Given the description of an element on the screen output the (x, y) to click on. 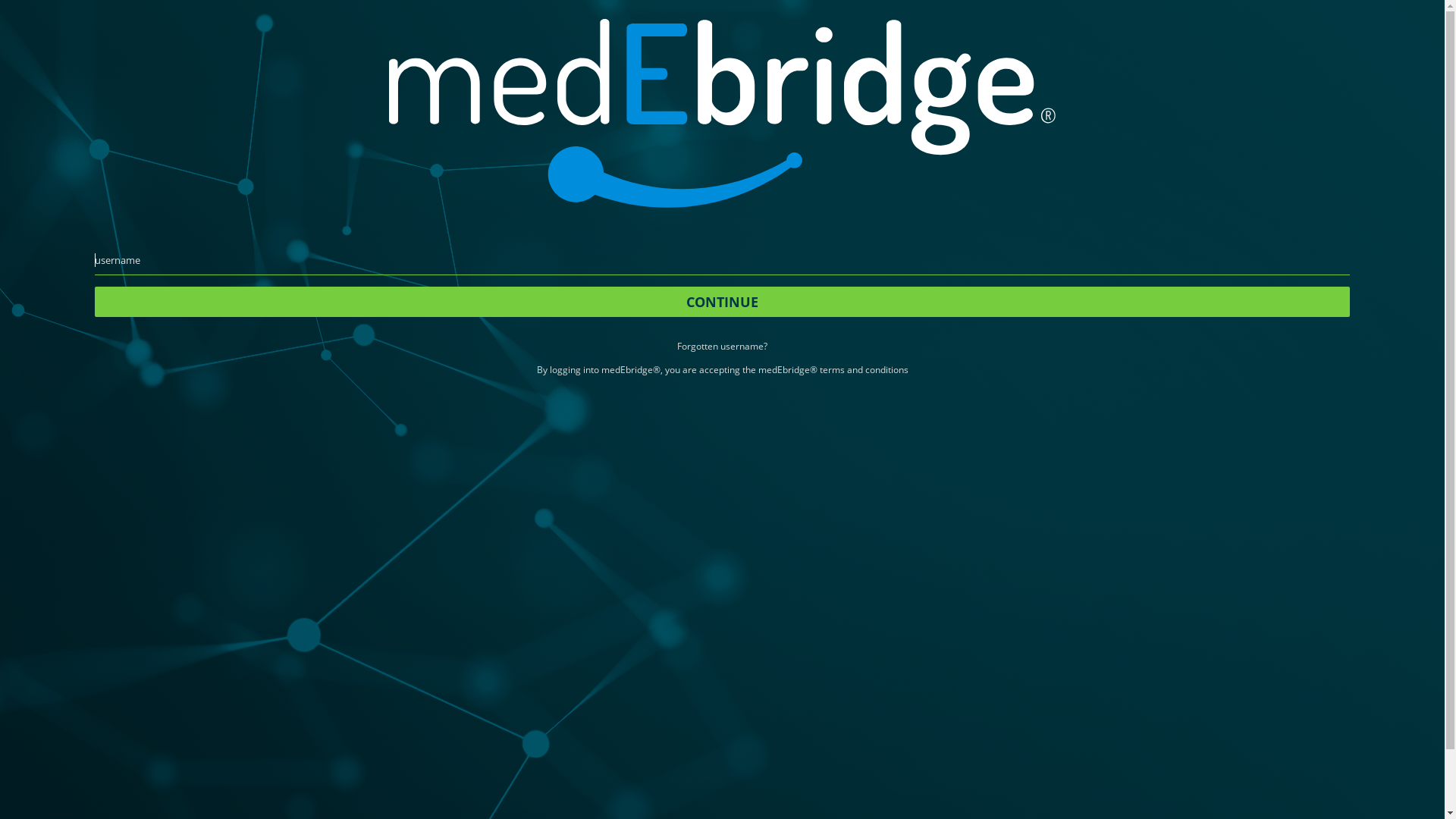
Forgotten username? Element type: text (722, 346)
CONTINUE Element type: text (721, 301)
